Given the description of an element on the screen output the (x, y) to click on. 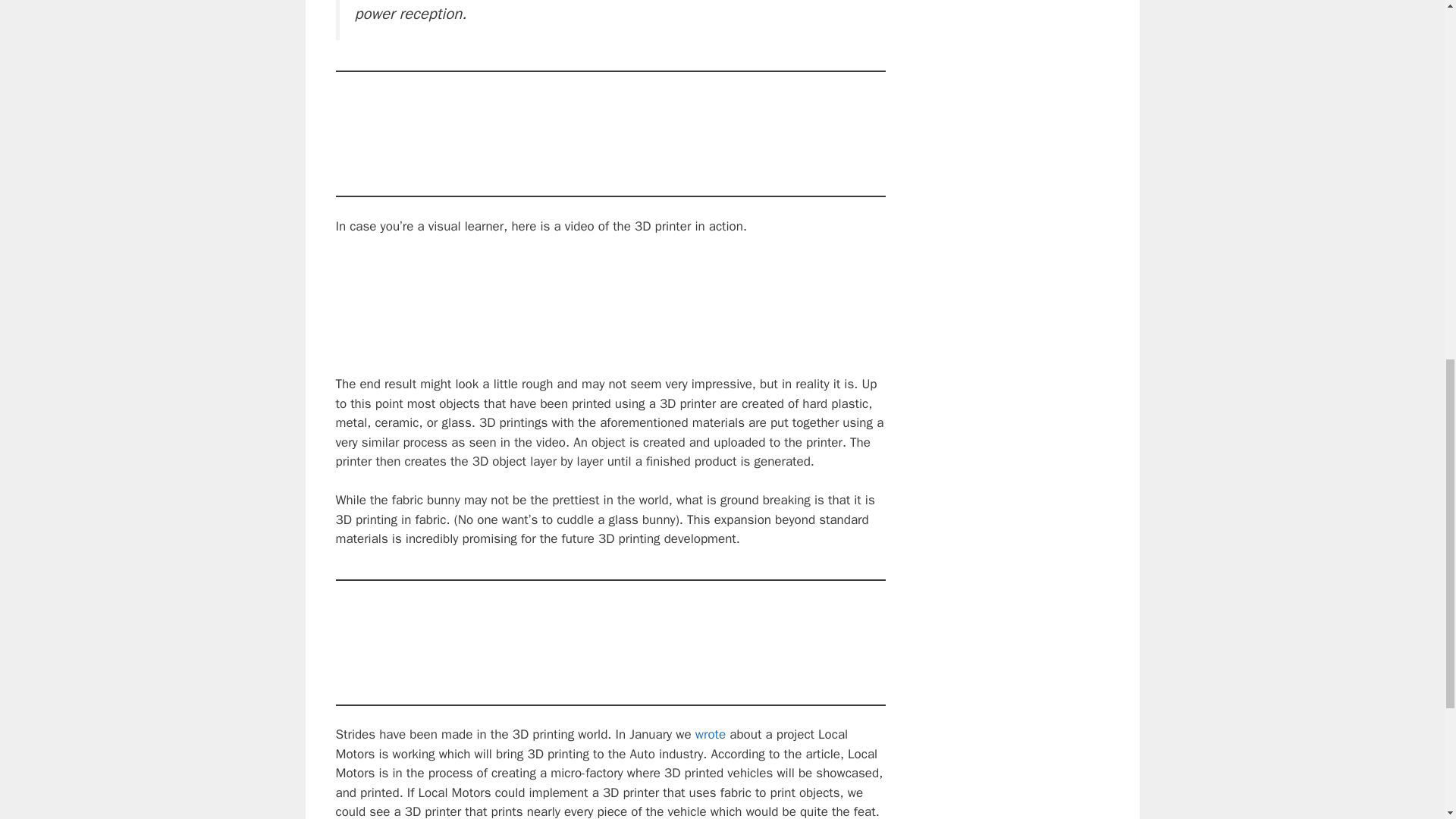
wrote (710, 734)
